Given the description of an element on the screen output the (x, y) to click on. 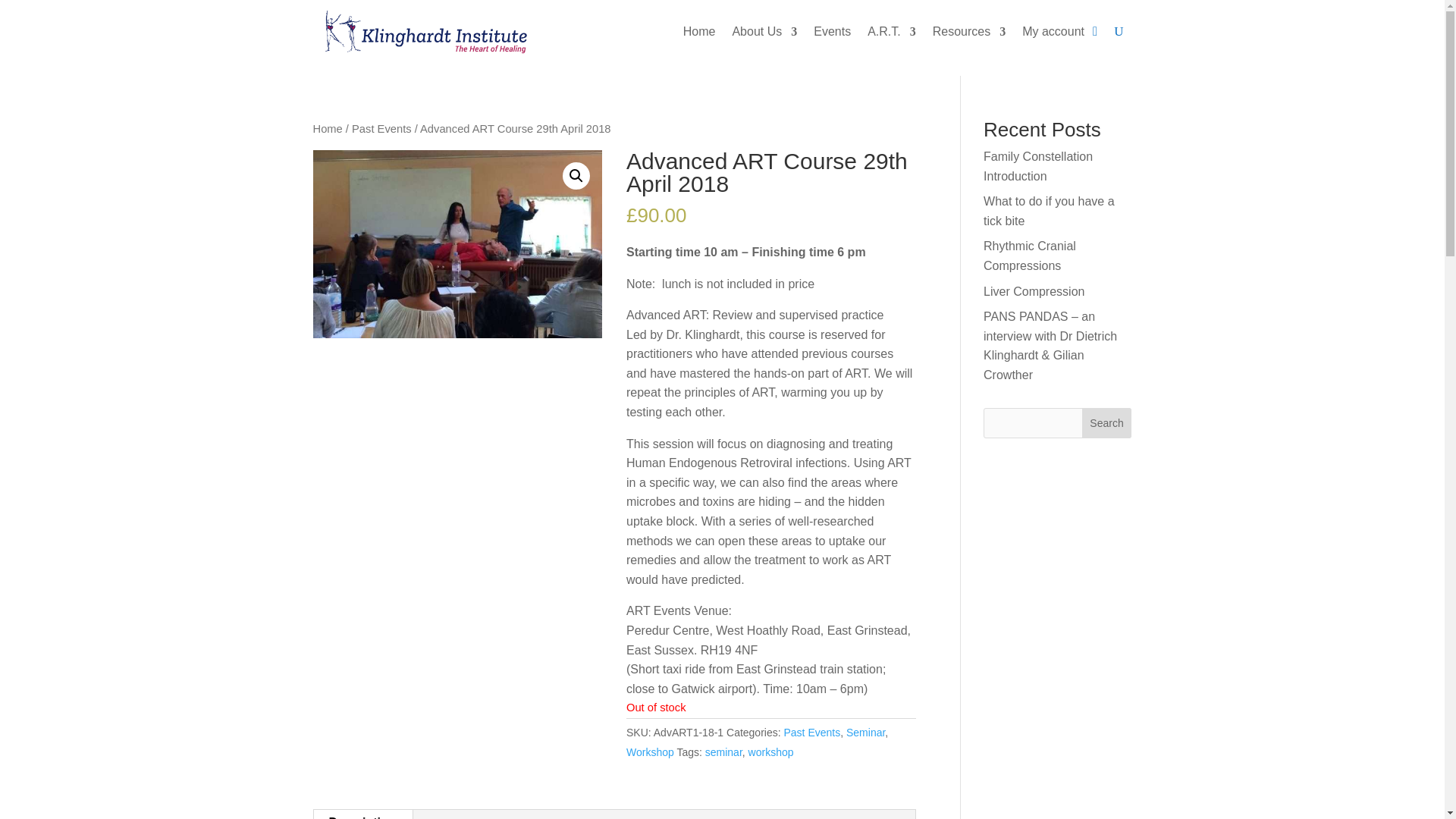
My account (1053, 31)
Resources (969, 31)
ART-training (457, 243)
About Us (764, 31)
